Given the description of an element on the screen output the (x, y) to click on. 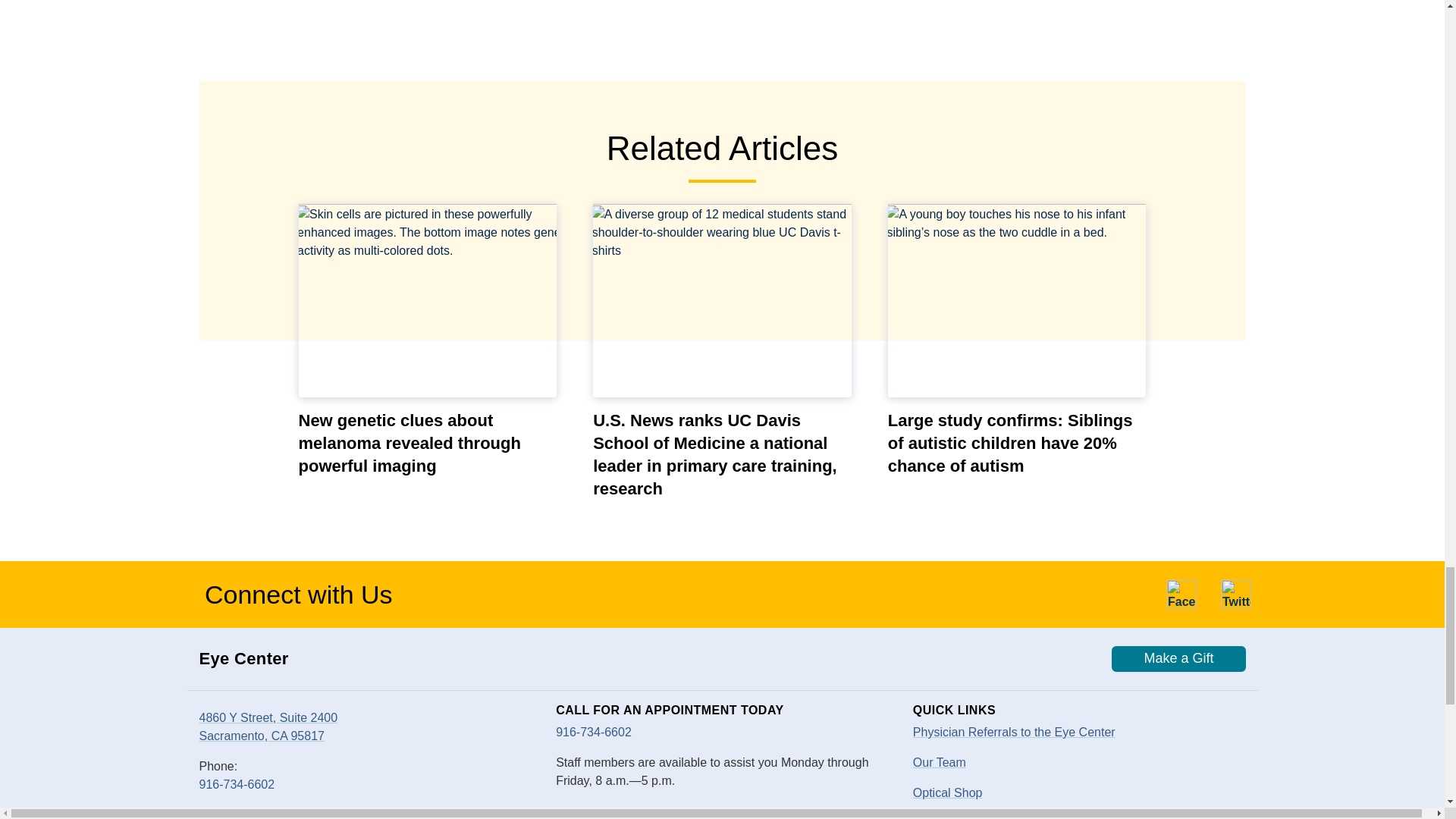
go to article (1017, 300)
go to article (721, 300)
Like us on Facebook (1181, 594)
Make a Gift (1178, 658)
go to article (427, 300)
Follow us on Twitter (1235, 594)
